Given the description of an element on the screen output the (x, y) to click on. 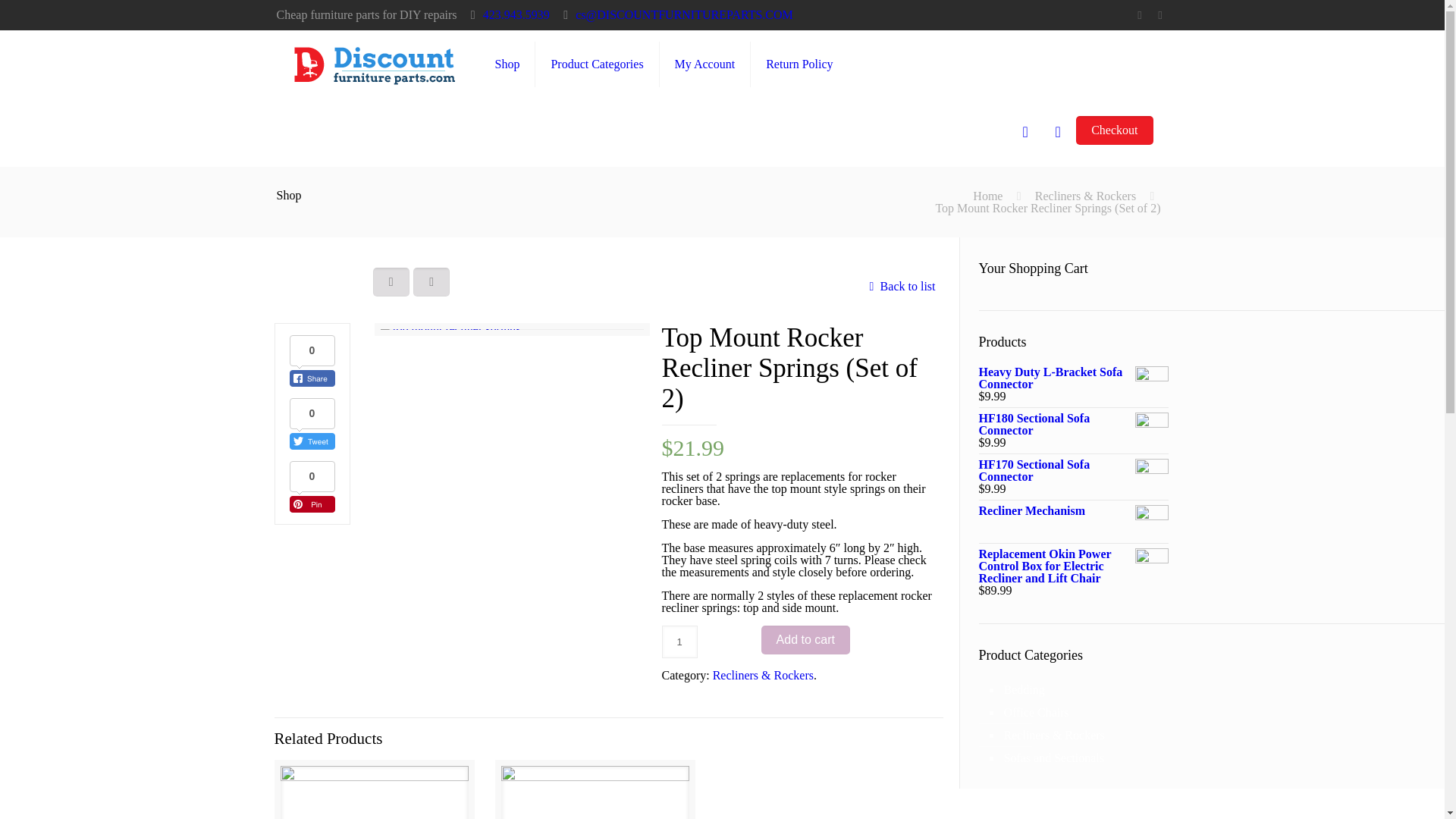
Facebook (1139, 15)
423.943.5939 (516, 14)
Recliner Mechanism (1072, 510)
Back to list (898, 285)
HF180 Sectional Sofa Connector (1072, 424)
Home (987, 195)
Top-Mount-Rocker-Recliner-Springs (449, 335)
Product Categories (597, 64)
HF170 Sectional Sofa Connector (1072, 470)
Add to cart (805, 639)
